Given the description of an element on the screen output the (x, y) to click on. 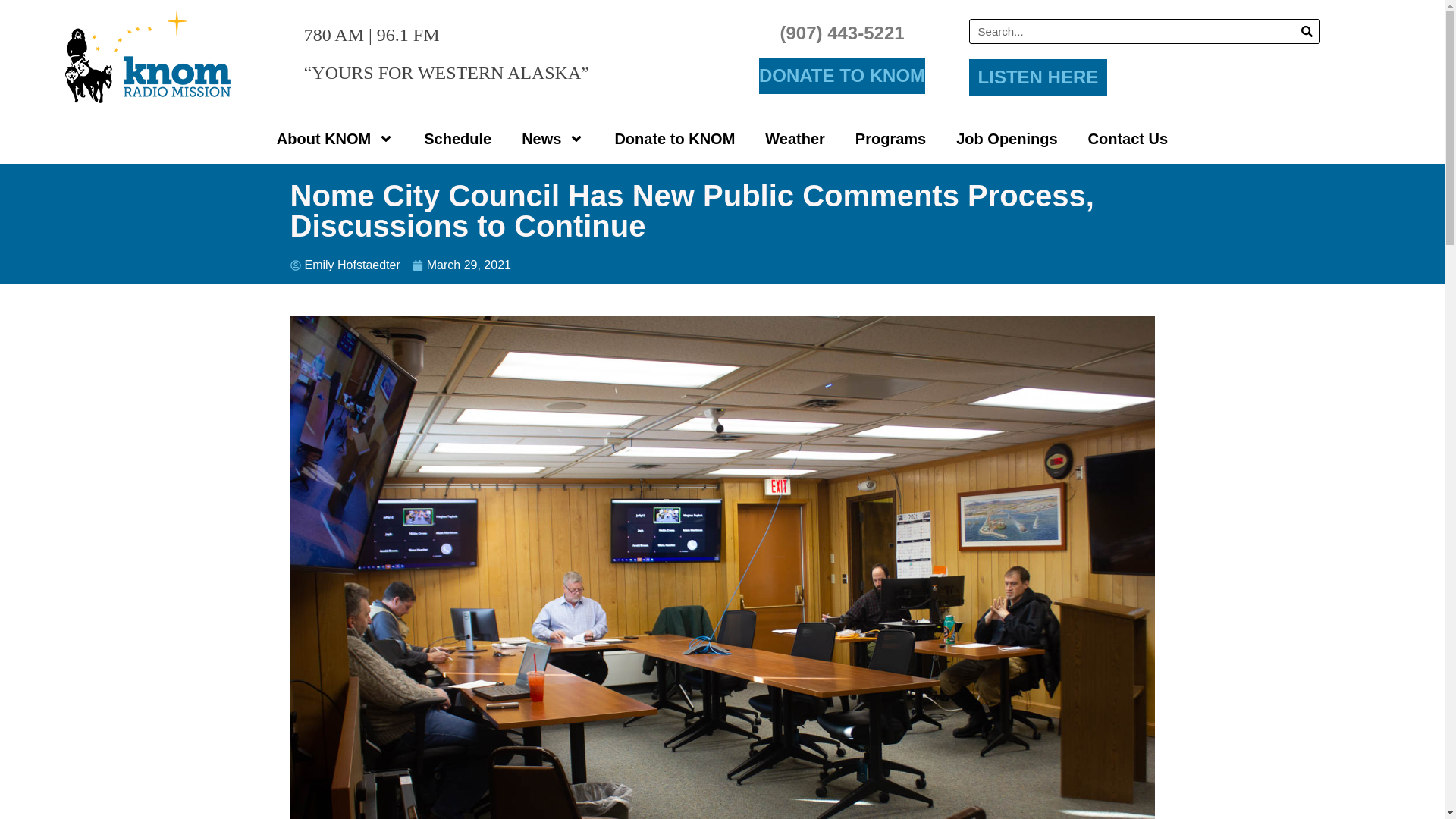
LISTEN HERE (1038, 76)
DONATE TO KNOM (841, 75)
